Given the description of an element on the screen output the (x, y) to click on. 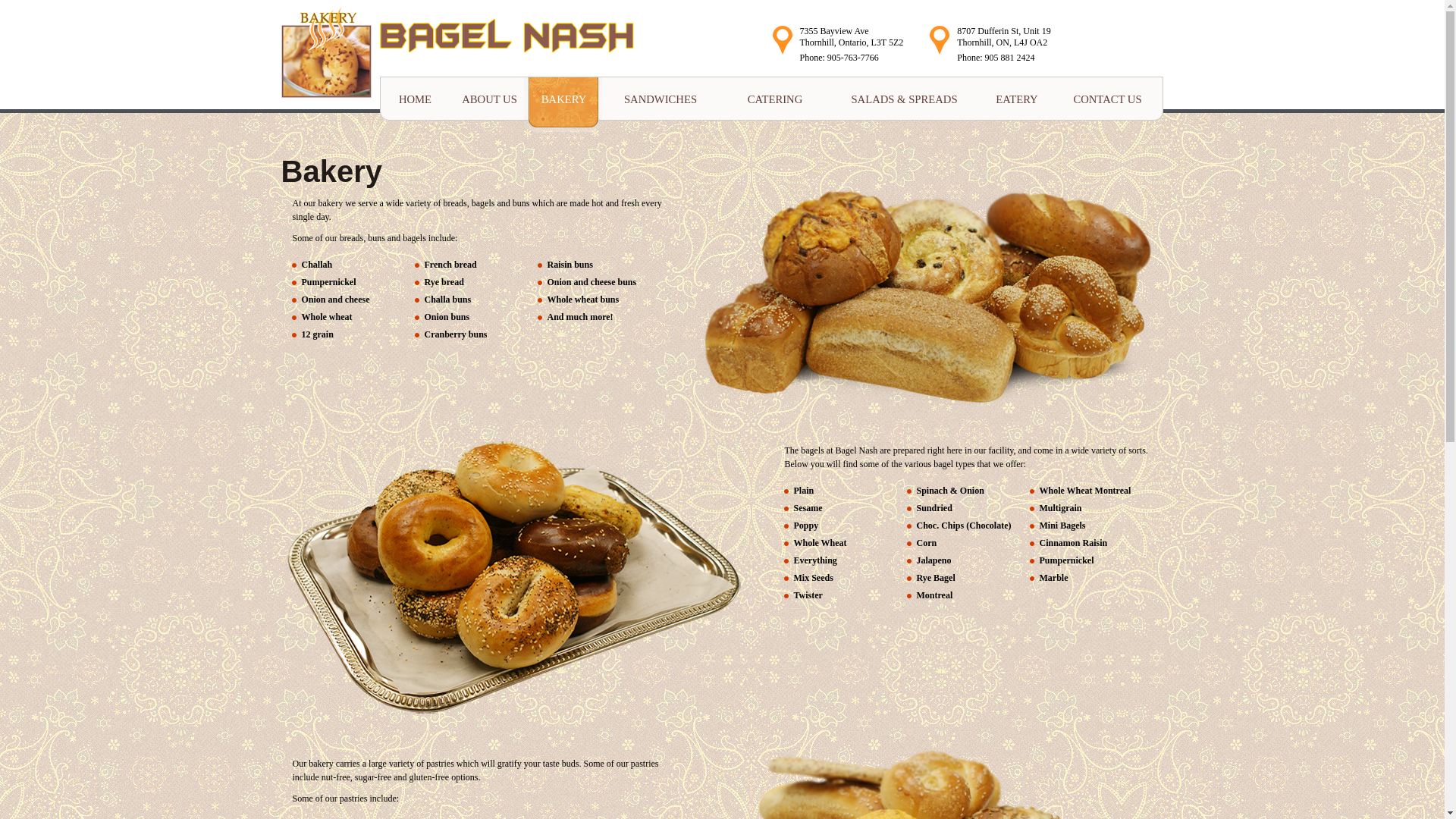
EATERY Element type: text (1016, 99)
HOME Element type: text (413, 99)
SALADS & SPREADS Element type: text (902, 99)
BAKERY Element type: text (562, 104)
ABOUT US Element type: text (487, 99)
CONTACT US Element type: text (1107, 99)
SANDWICHES Element type: text (657, 99)
CATERING Element type: text (773, 99)
